Given the description of an element on the screen output the (x, y) to click on. 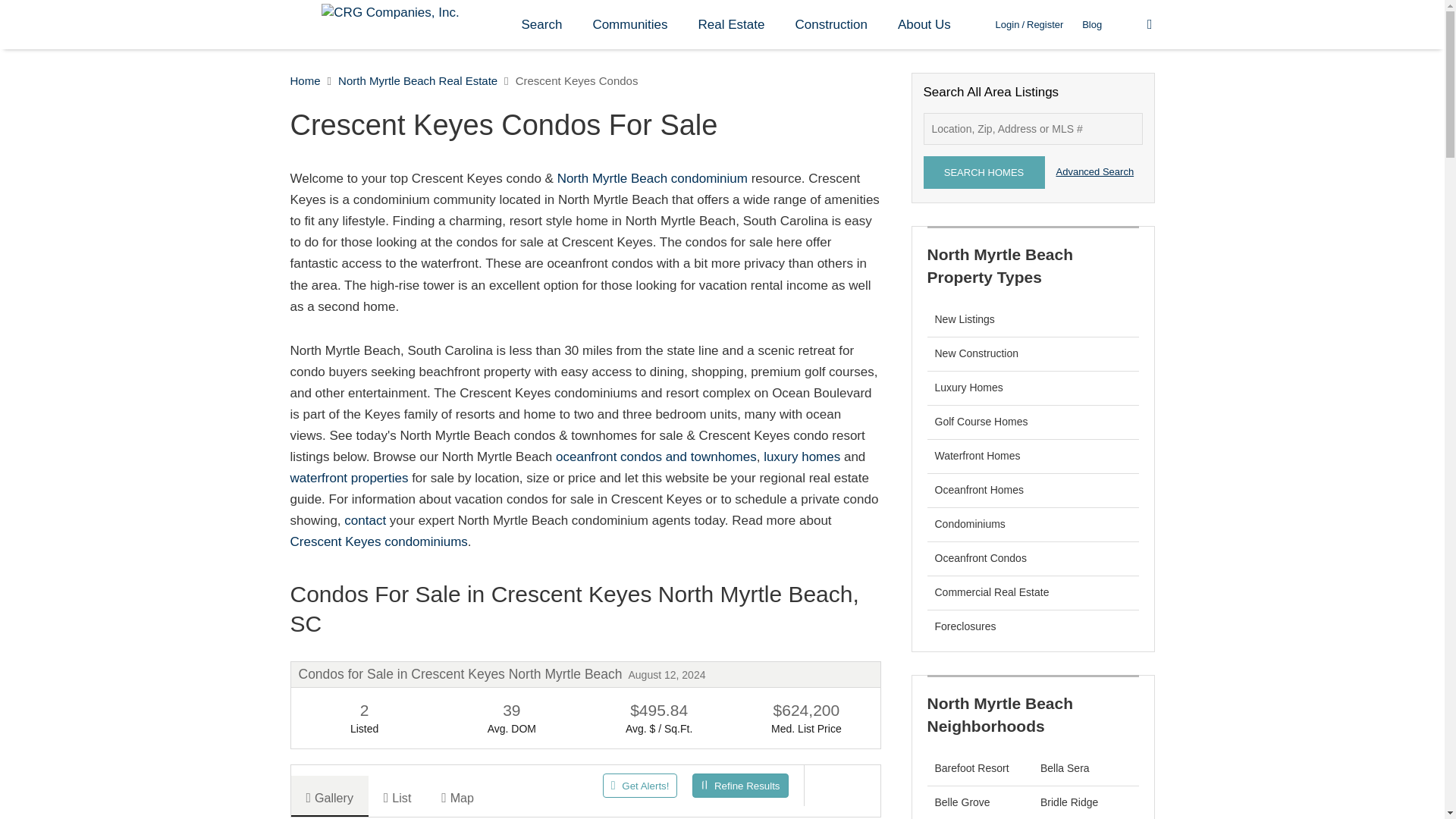
New Listings (964, 318)
Communities (629, 24)
Waterfront Homes (977, 455)
Golf Course Homes (980, 421)
Select Language (1137, 24)
Real Estate (731, 24)
Search (542, 24)
Luxury Homes (968, 387)
Construction (830, 24)
New Construction (975, 353)
